Given the description of an element on the screen output the (x, y) to click on. 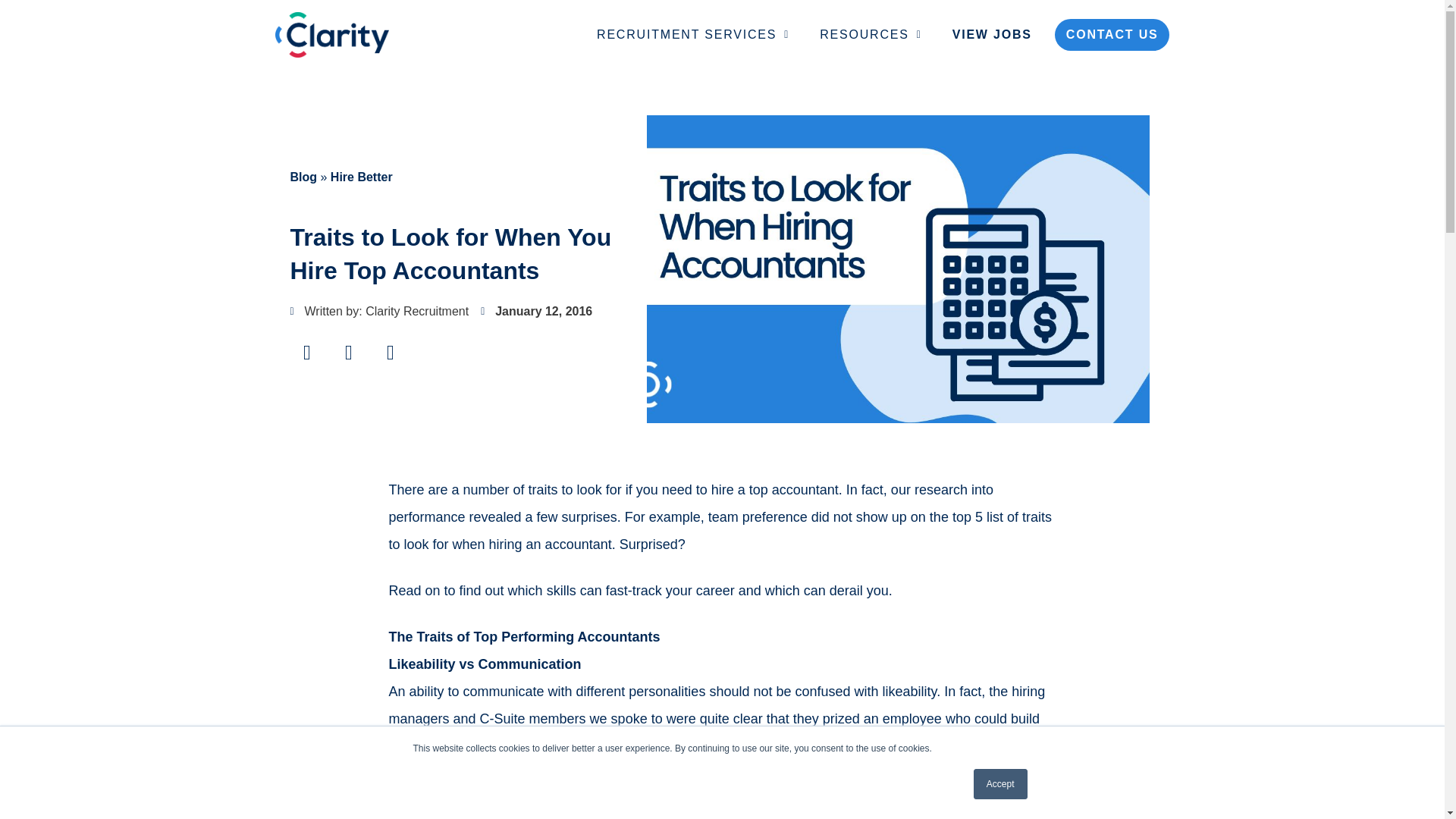
CONTACT US (1112, 34)
RECRUITMENT SERVICES (692, 34)
Blog (303, 176)
January 12, 2016 (536, 311)
Accept (1000, 784)
VIEW JOBS (991, 34)
Hire Better (361, 176)
RESOURCES (870, 34)
